Given the description of an element on the screen output the (x, y) to click on. 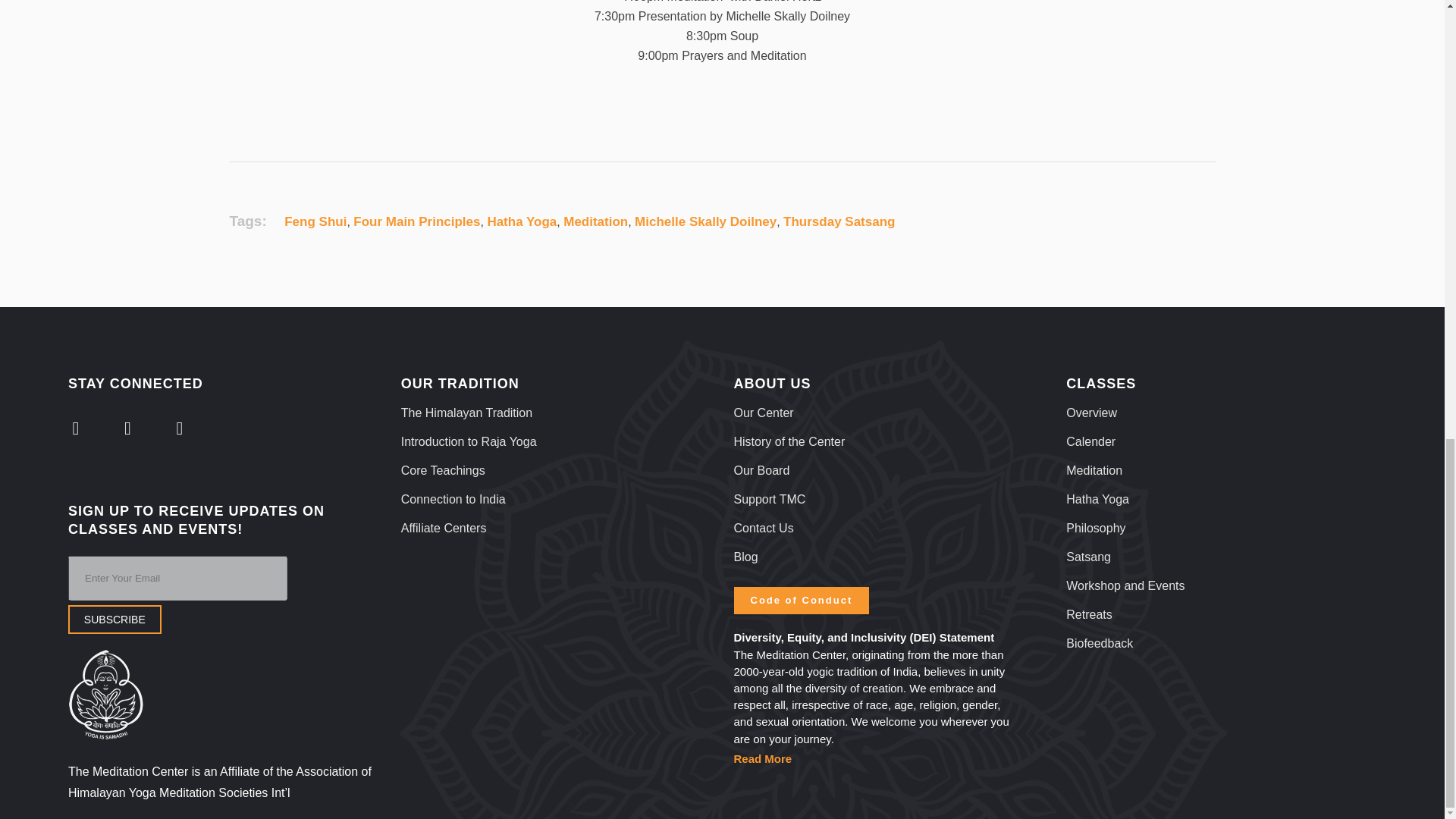
Facebook (127, 428)
Twitter (75, 428)
SUBSCRIBE (114, 619)
Default Label (179, 428)
